Given the description of an element on the screen output the (x, y) to click on. 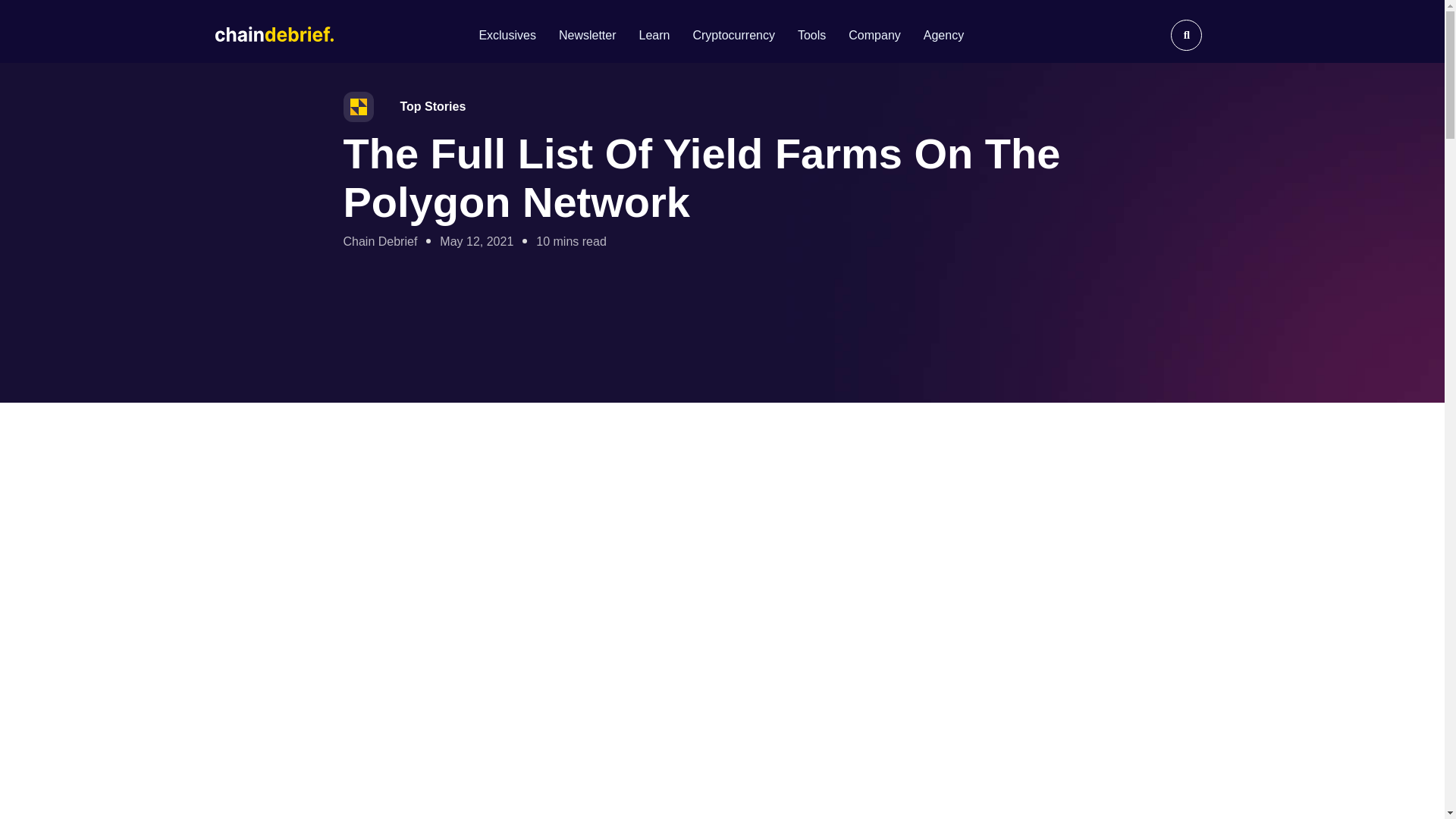
Newsletter (587, 34)
Learn (654, 34)
Exclusives (507, 34)
